Given the description of an element on the screen output the (x, y) to click on. 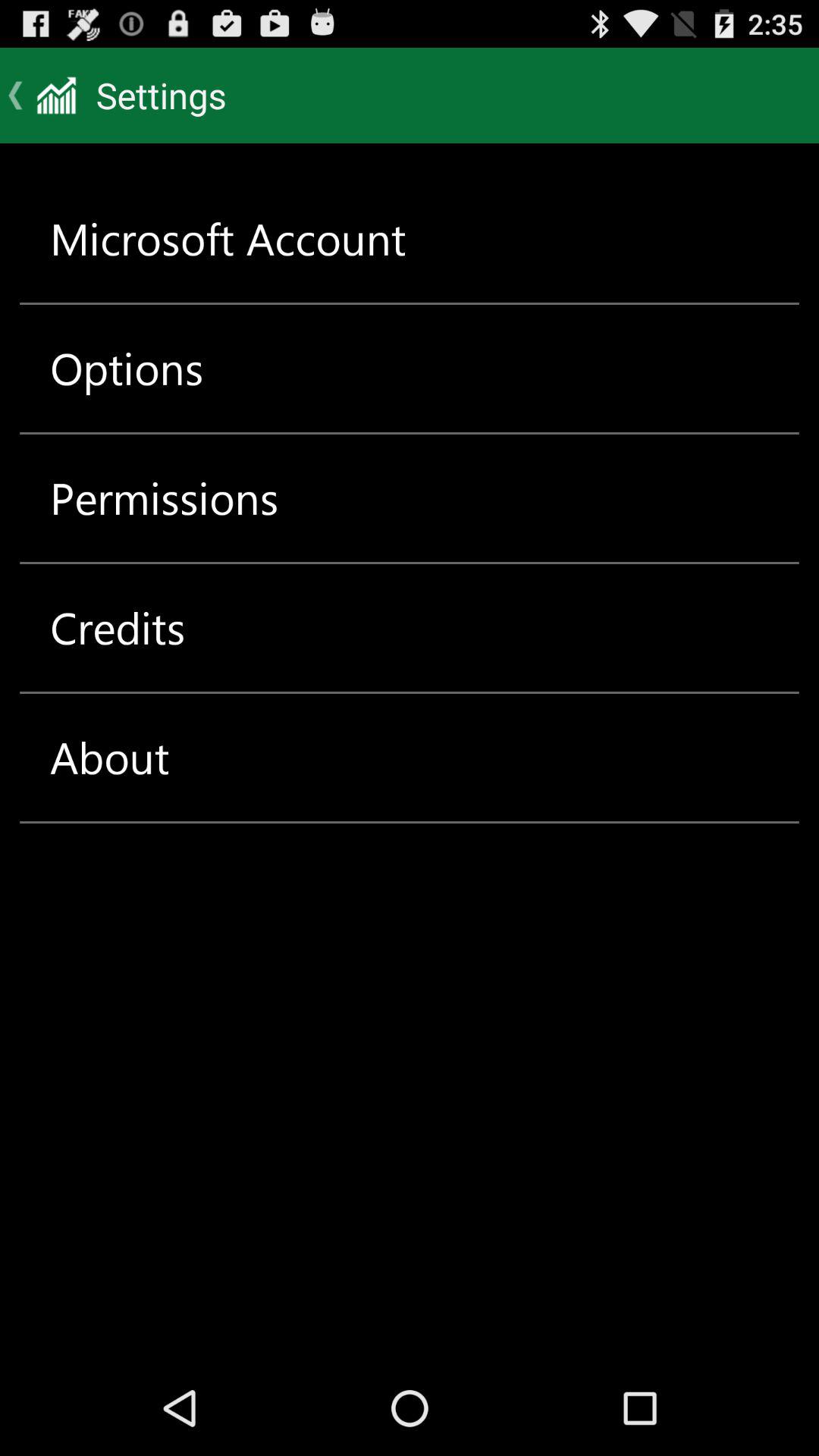
launch the microsoft account (228, 238)
